Given the description of an element on the screen output the (x, y) to click on. 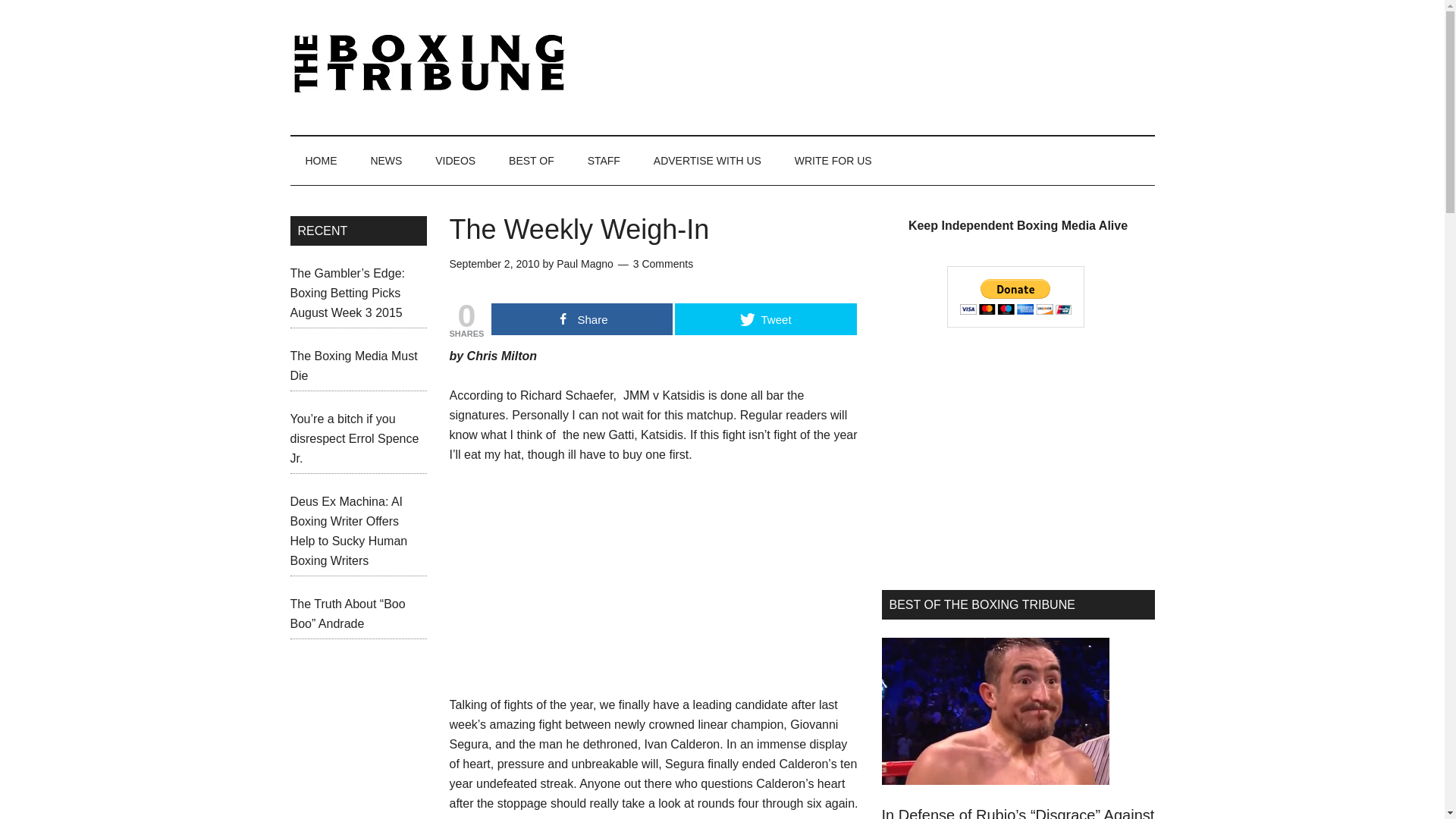
Advertisement (878, 64)
Tweet (765, 318)
Advertisement (562, 579)
WRITE FOR US (832, 160)
BEST OF (531, 160)
VIDEOS (455, 160)
NEWS (385, 160)
Share (582, 318)
PayPal - The safer, easier way to pay online! (1015, 296)
3 Comments (663, 263)
STAFF (603, 160)
Paul Magno (584, 263)
ADVERTISE WITH US (707, 160)
Advertisement (1017, 458)
The Boxing Tribune (433, 64)
